Given the description of an element on the screen output the (x, y) to click on. 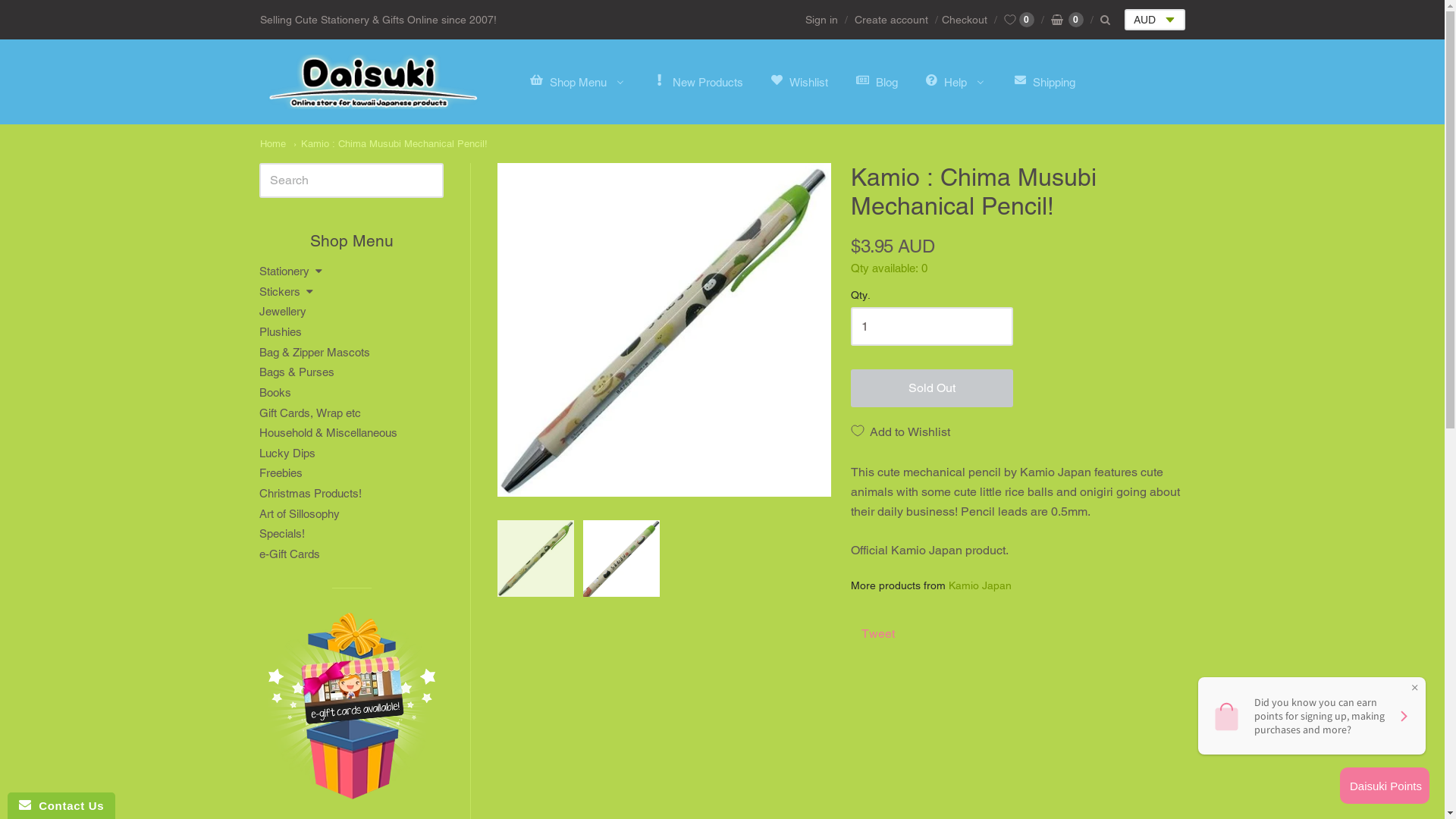
Checkout Element type: text (959, 19)
Specials! Element type: text (351, 534)
Blog Element type: text (873, 81)
0 Element type: text (1012, 19)
Shipping Element type: text (1040, 81)
Daisuki Element type: hover (372, 81)
Bag & Zipper Mascots Element type: text (351, 352)
Kamio Japan Element type: text (979, 585)
Wishlist Element type: text (795, 81)
0 Element type: text (1067, 19)
Books Element type: text (351, 392)
Shop Menu Element type: text (574, 81)
Bags & Purses Element type: text (351, 372)
Stationery Element type: text (351, 271)
Kamio : Chima Musubi Mechanical Pencil! Element type: text (389, 143)
Kamio : Chima Musubi Mechanical Pencil! Element type: hover (621, 558)
e-Gift Cards Available to buy here! Element type: hover (351, 710)
Sign in Element type: text (821, 19)
Kamio : Chima Musubi Mechanical Pencil! Element type: hover (535, 558)
Freebies Element type: text (351, 473)
Art of Sillosophy Element type: text (351, 514)
Jewellery Element type: text (351, 311)
Kamio : Chima Musubi Mechanical Pencil! Element type: hover (664, 329)
Tweet Element type: text (877, 633)
e-Gift Cards Element type: text (351, 554)
New Products Element type: text (695, 81)
LoyaltyLion beacon Element type: hover (1384, 785)
Lucky Dips Element type: text (351, 453)
Sold Out Element type: text (931, 388)
Plushies Element type: text (351, 332)
Stickers Element type: text (351, 292)
Home Element type: text (272, 143)
Gift Cards, Wrap etc Element type: text (351, 413)
Household & Miscellaneous Element type: text (351, 433)
Christmas Products! Element type: text (351, 493)
Create account Element type: text (891, 19)
Help Element type: text (952, 81)
Add to Wishlist Element type: text (900, 430)
